Given the description of an element on the screen output the (x, y) to click on. 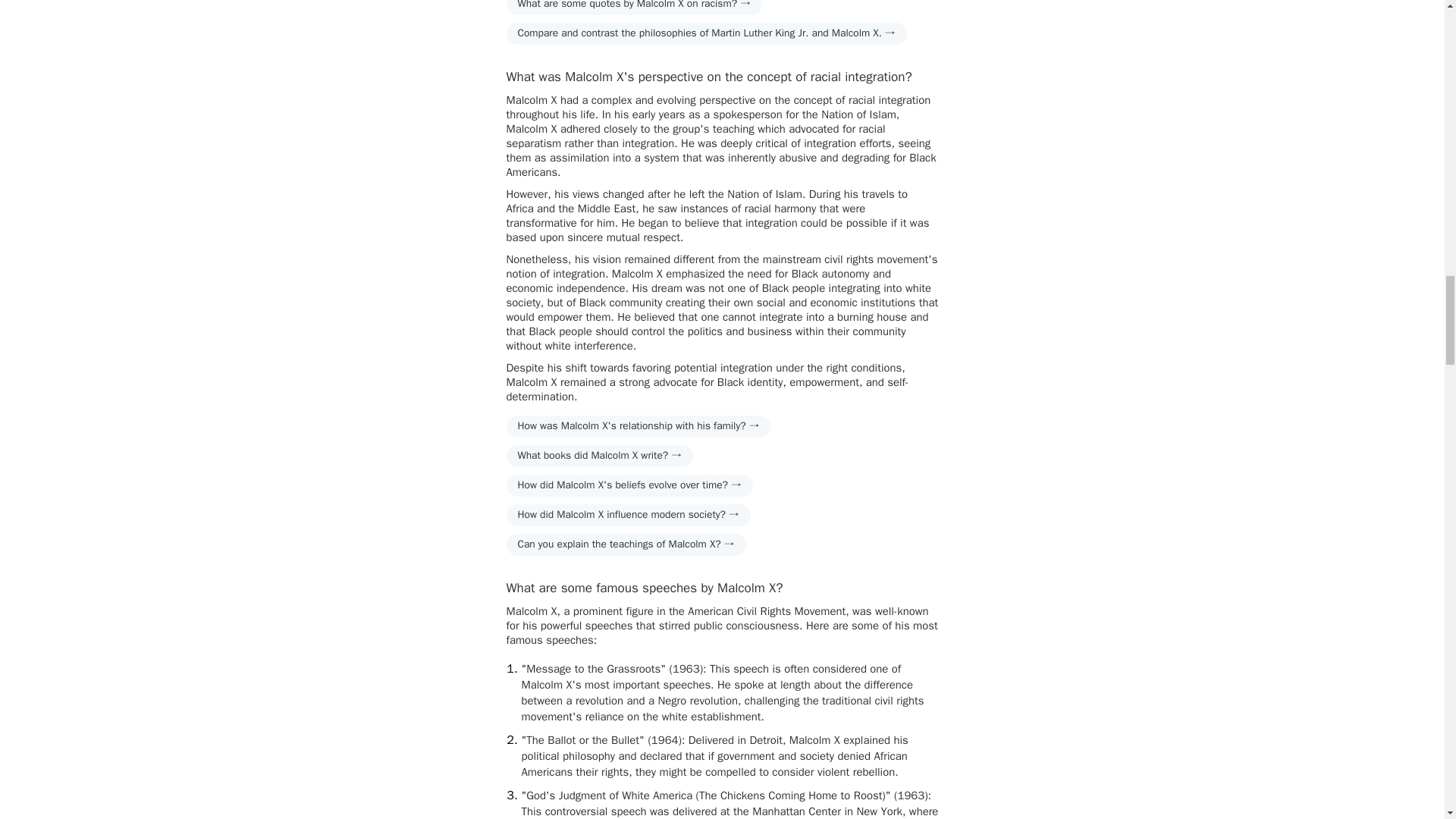
What books did Malcolm X write? (600, 455)
How did Malcolm X's beliefs evolve over time? (629, 485)
How did Malcolm X influence modern society? (628, 515)
How was Malcolm X's relationship with his family? (638, 426)
Can you explain the teachings of Malcolm X? (625, 544)
What are some quotes by Malcolm X on racism? (633, 7)
